Given the description of an element on the screen output the (x, y) to click on. 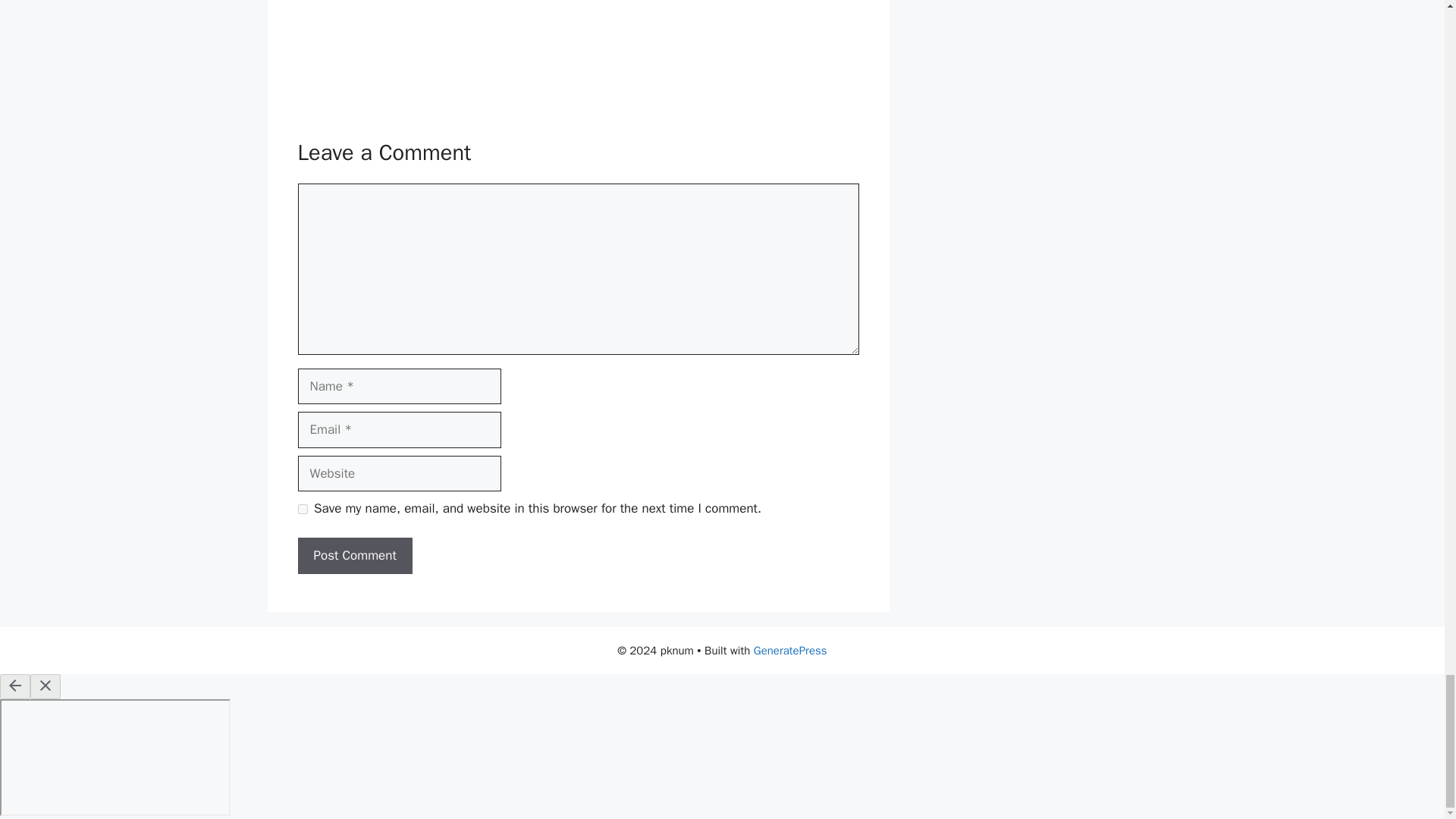
Post Comment (354, 555)
GeneratePress (790, 650)
Post Comment (354, 555)
yes (302, 508)
